Given the description of an element on the screen output the (x, y) to click on. 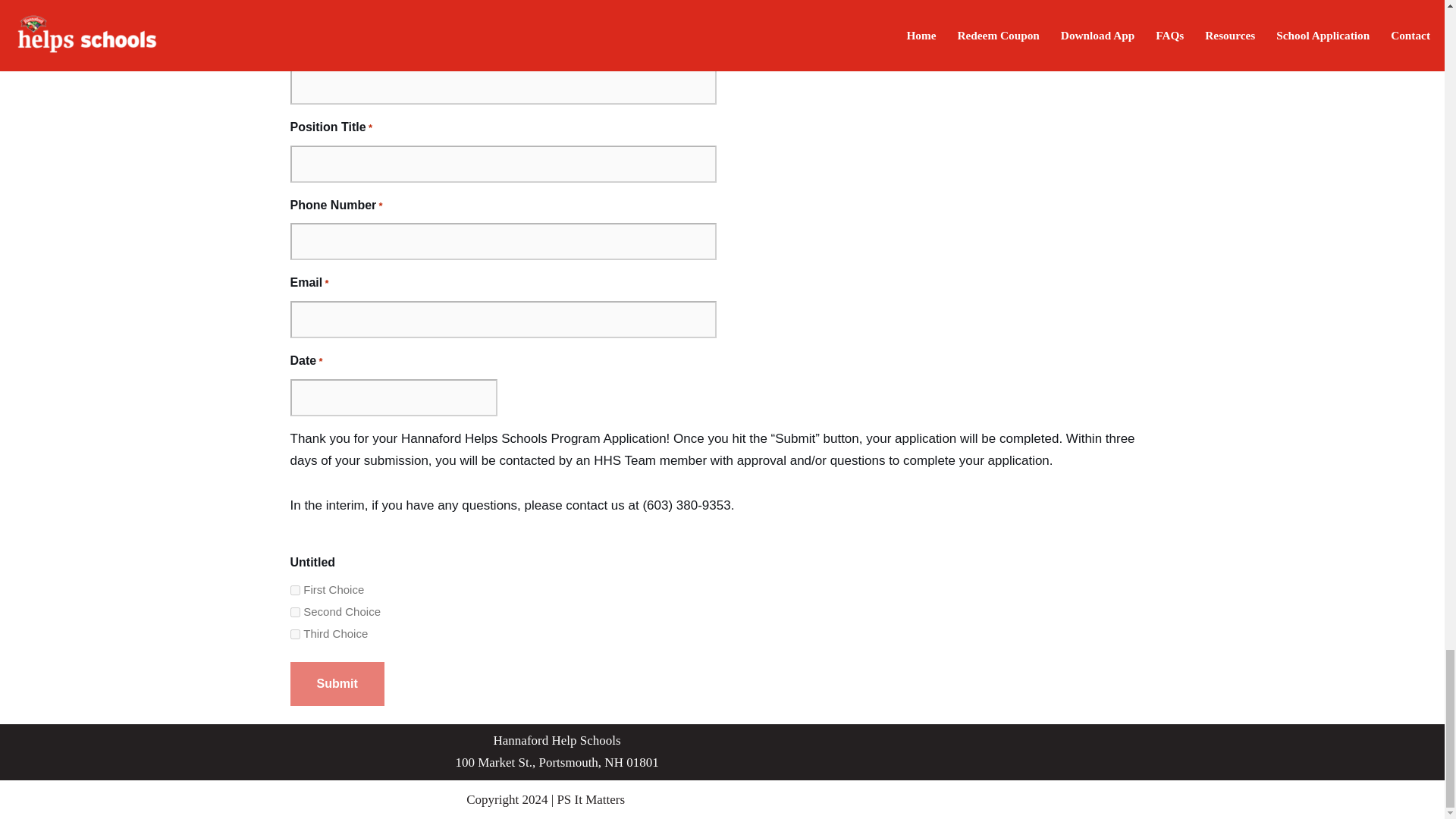
Submit (336, 683)
